Given the description of an element on the screen output the (x, y) to click on. 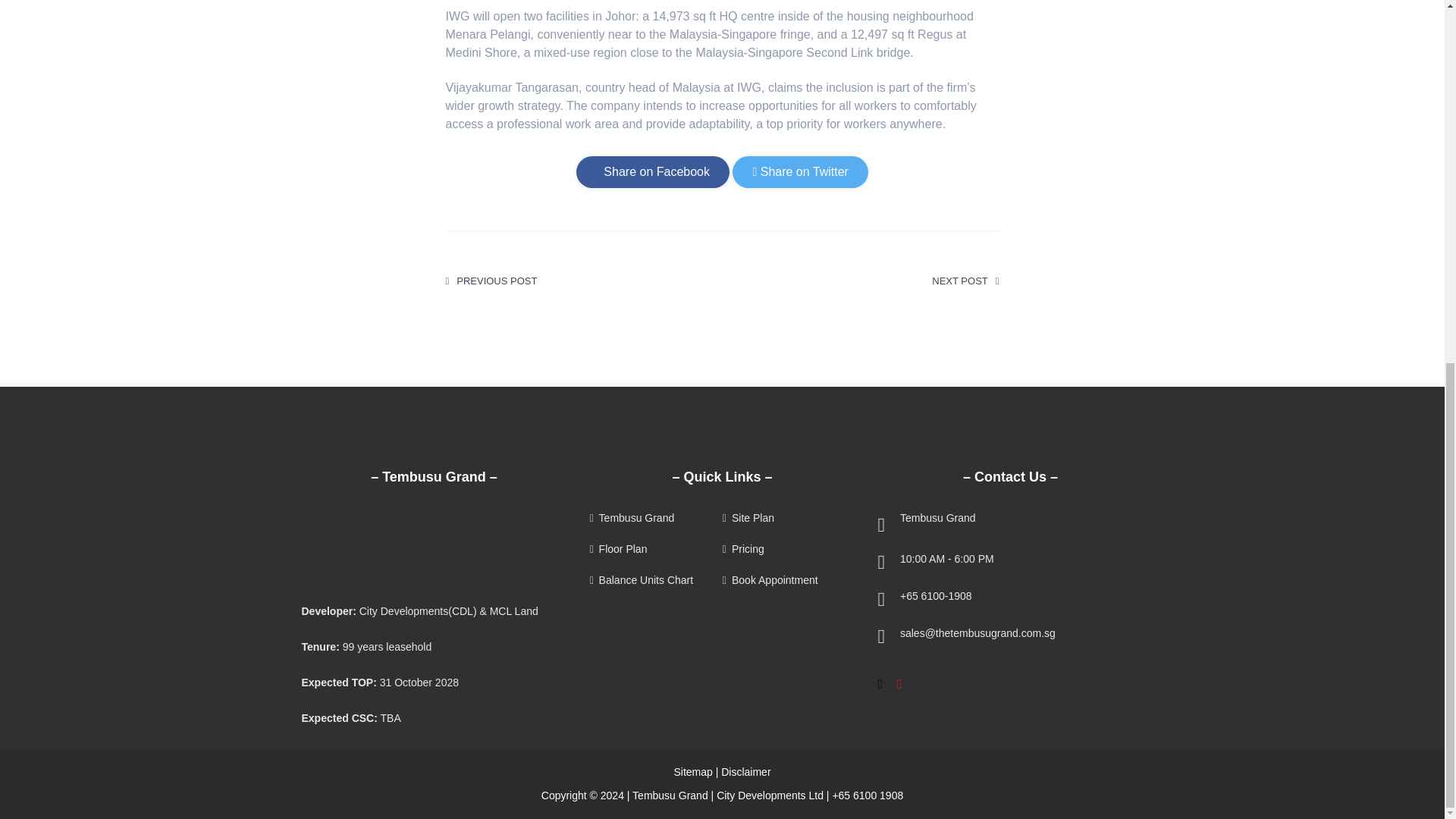
Floor Plan (654, 549)
Pricing (786, 549)
Site Plan (786, 517)
NEXT POST (964, 281)
Share on Facebook (652, 172)
Tembusu Grand (654, 517)
Share on Twitter (799, 172)
PREVIOUS POST (491, 281)
